Given the description of an element on the screen output the (x, y) to click on. 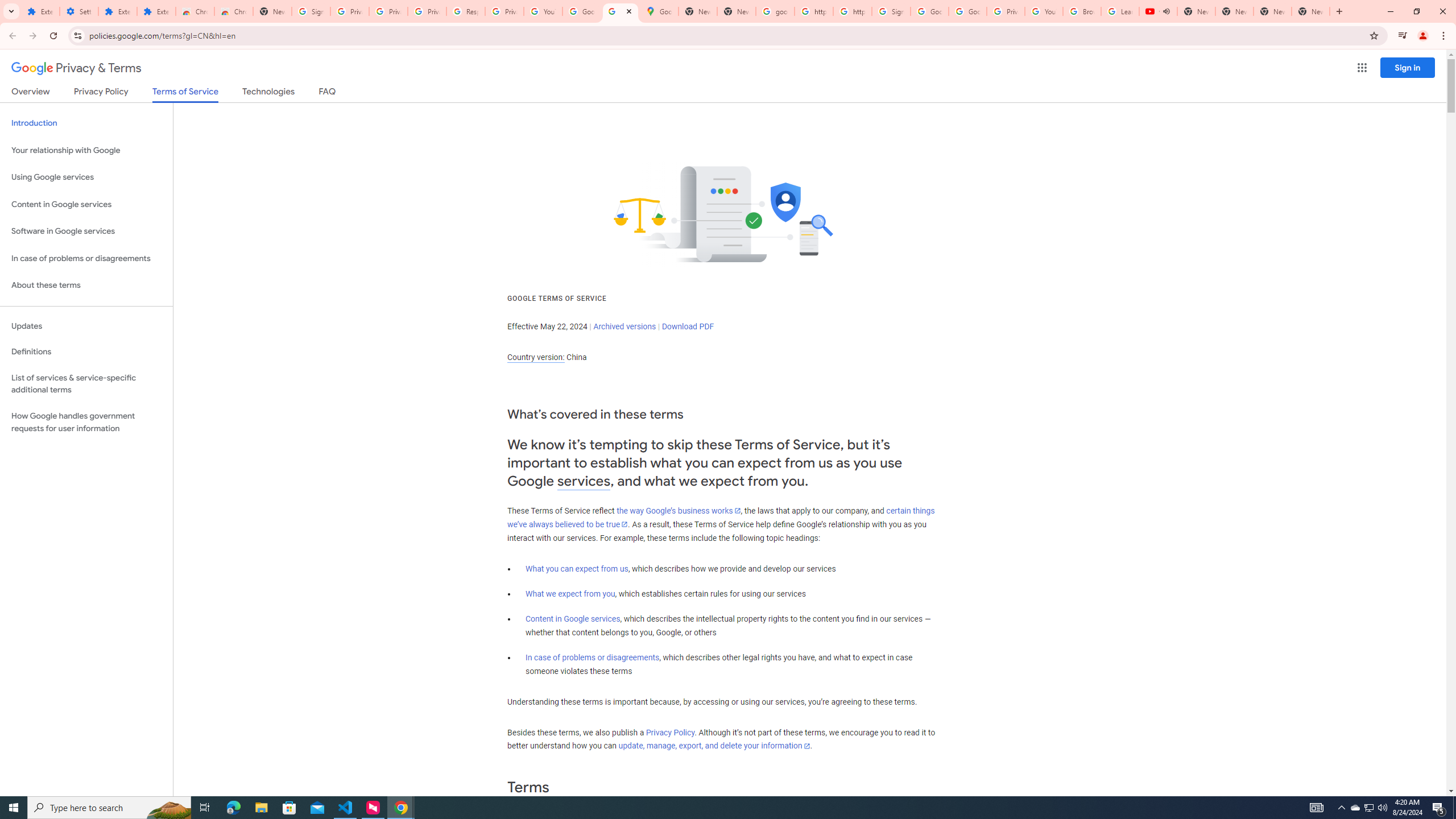
About these terms (86, 284)
What you can expect from us (576, 568)
Introduction (86, 122)
update, manage, export, and delete your information (714, 746)
Download PDF (687, 326)
Archived versions (624, 326)
Chrome Web Store - Themes (233, 11)
